Given the description of an element on the screen output the (x, y) to click on. 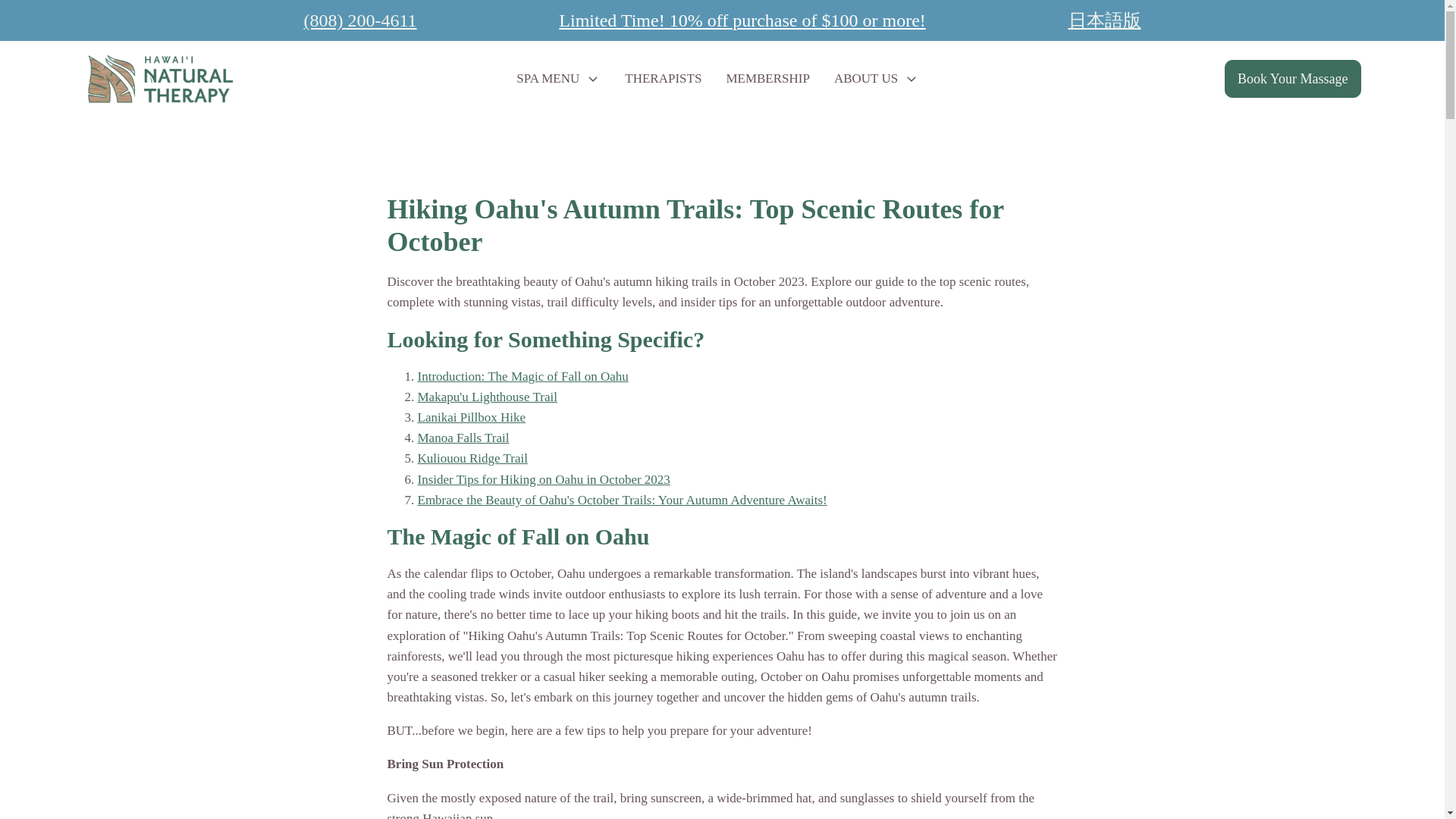
THERAPISTS (662, 78)
MEMBERSHIP (767, 78)
Book Your Massage (1292, 78)
